Given the description of an element on the screen output the (x, y) to click on. 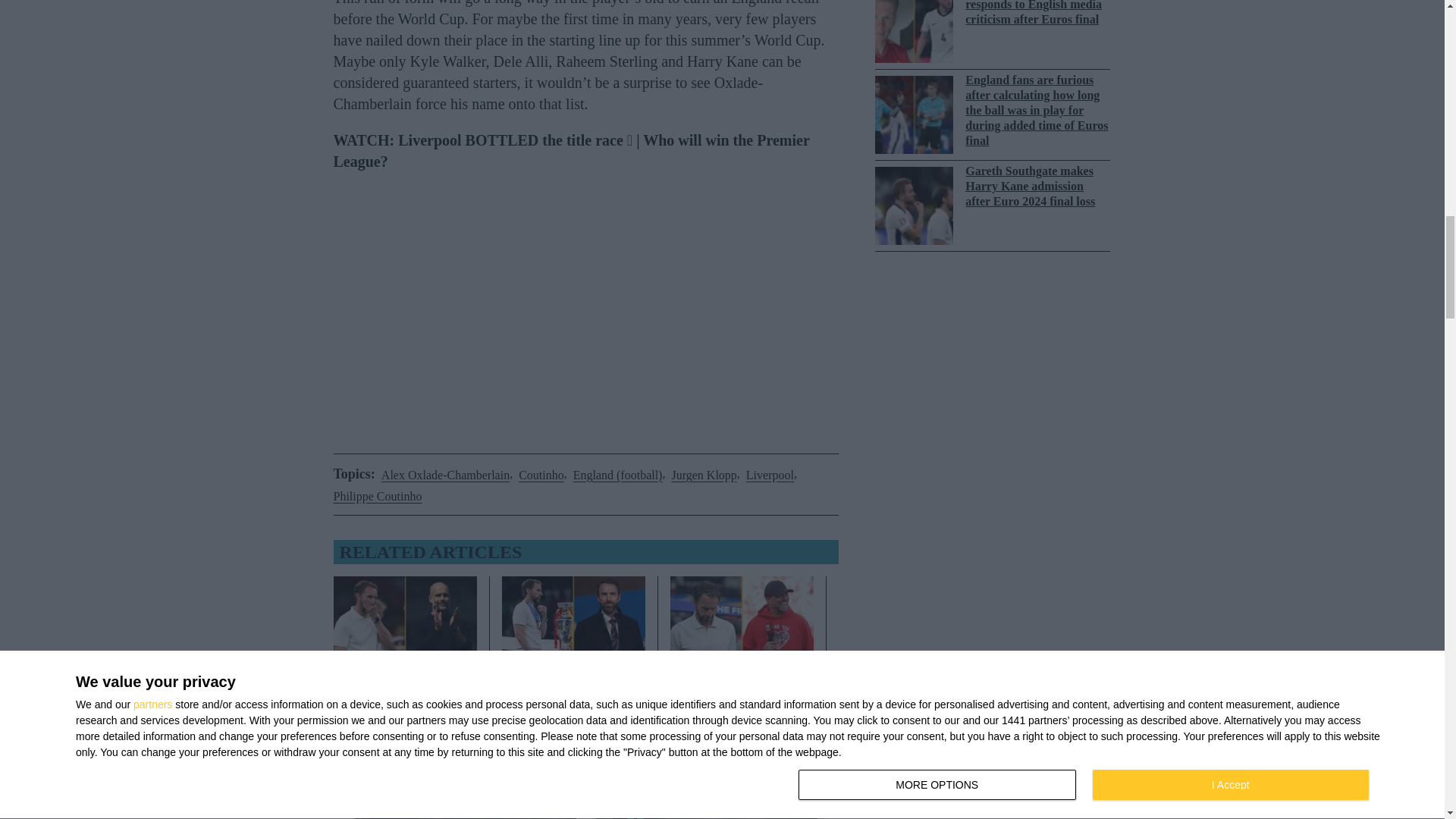
Callum Boyle (573, 721)
YouTube video player (586, 306)
Callum Boyle (405, 721)
